Given the description of an element on the screen output the (x, y) to click on. 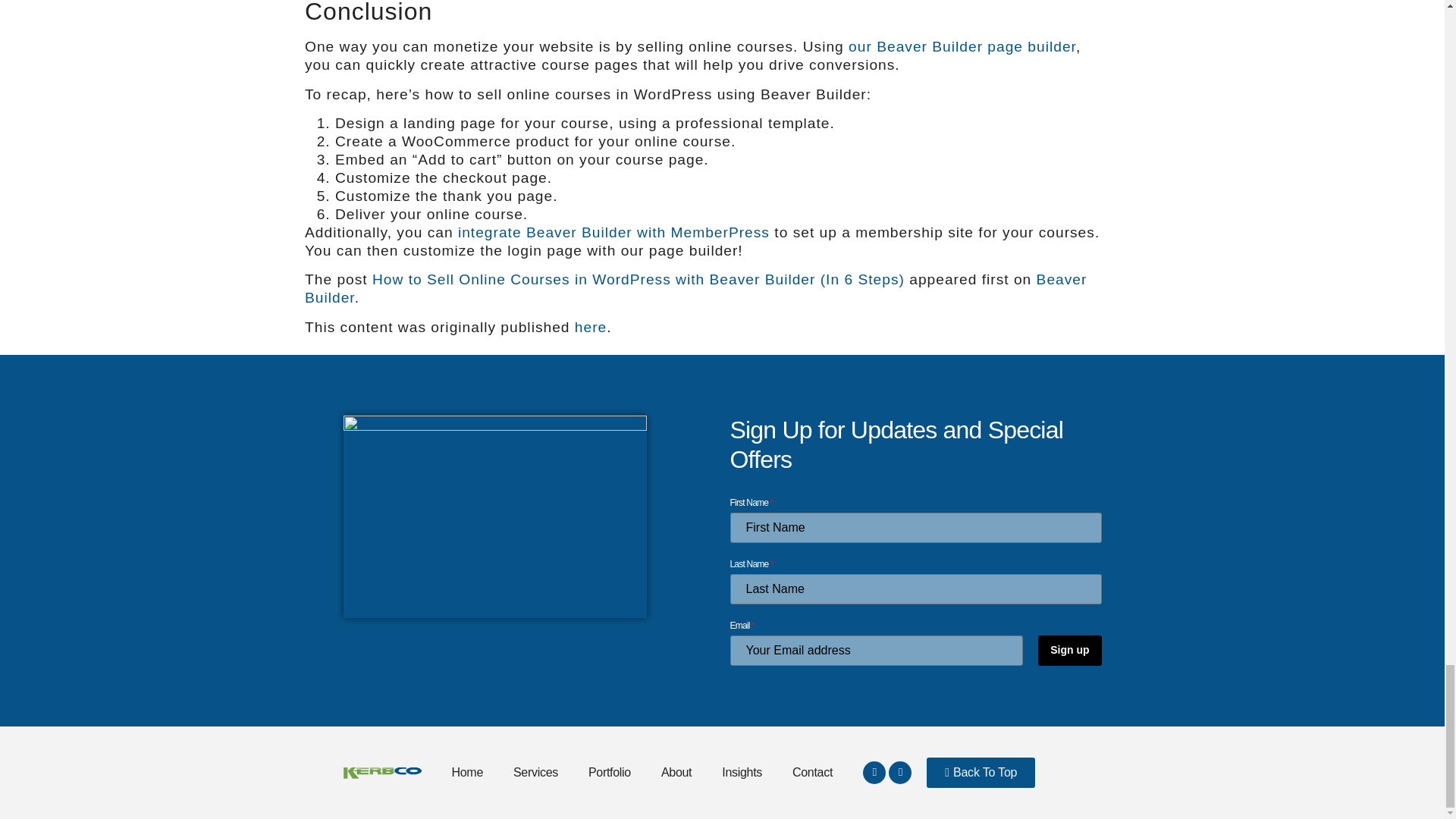
our Beaver Builder page builder (961, 46)
integrate Beaver Builder with MemberPress (614, 232)
